Given the description of an element on the screen output the (x, y) to click on. 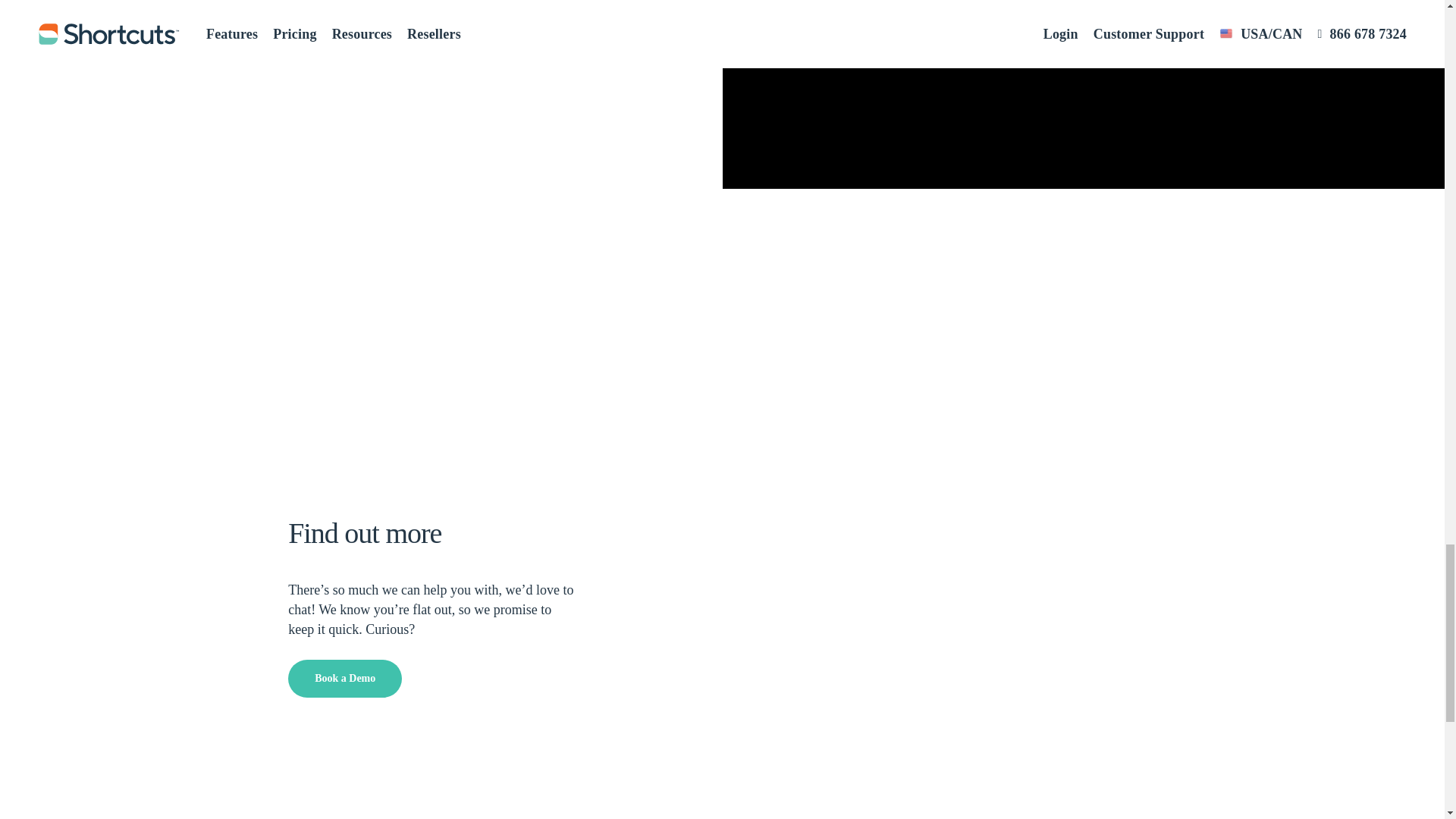
Book a Demo (344, 678)
Take me there (926, 9)
